Given the description of an element on the screen output the (x, y) to click on. 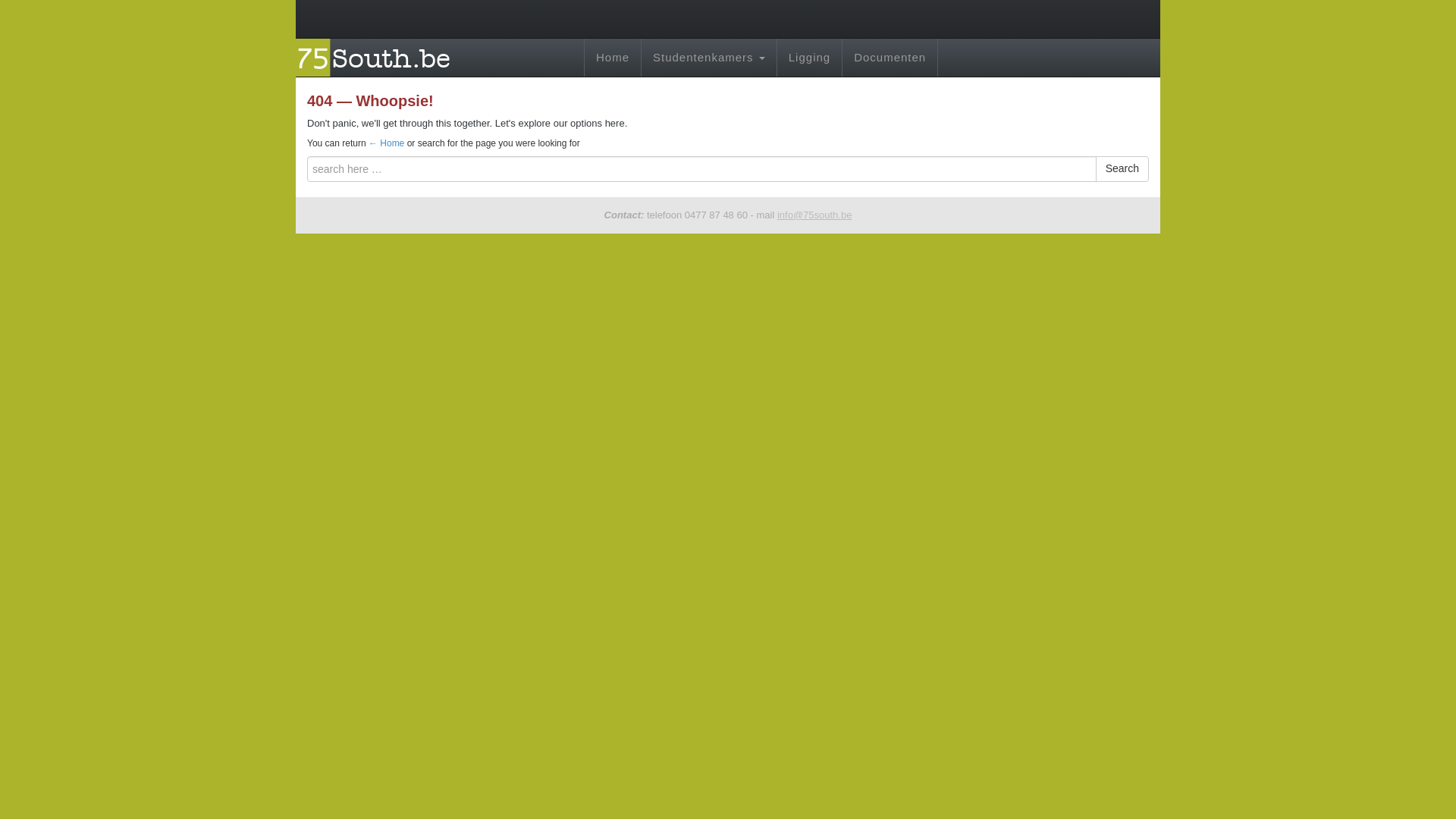
Studentenkamers (709, 57)
75south (377, 56)
Documenten (890, 57)
Home (386, 143)
Search (1122, 168)
Home (612, 57)
Ligging (809, 57)
